Given the description of an element on the screen output the (x, y) to click on. 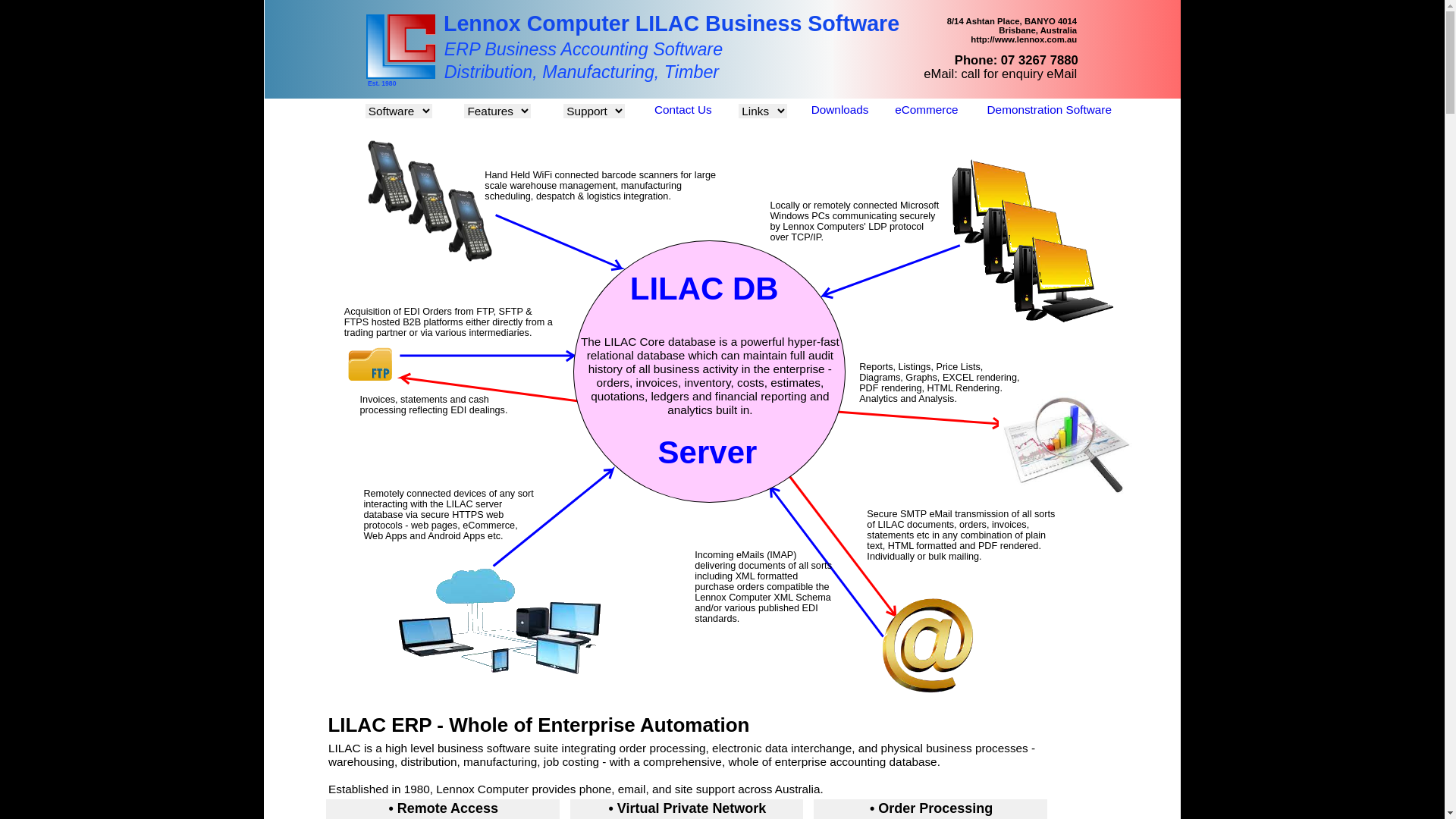
Demonstration Software Element type: text (1049, 109)
Check out LILAC's Powerful eCommerce Integration Element type: hover (501, 685)
Check out  LILAC's Powerful Intergrated Analytics Element type: hover (1066, 492)
Downloads Element type: text (840, 109)
Lennox Computer Home Page Element type: hover (400, 74)
eCommerce Element type: text (925, 109)
Contact Us Element type: text (683, 109)
